Given the description of an element on the screen output the (x, y) to click on. 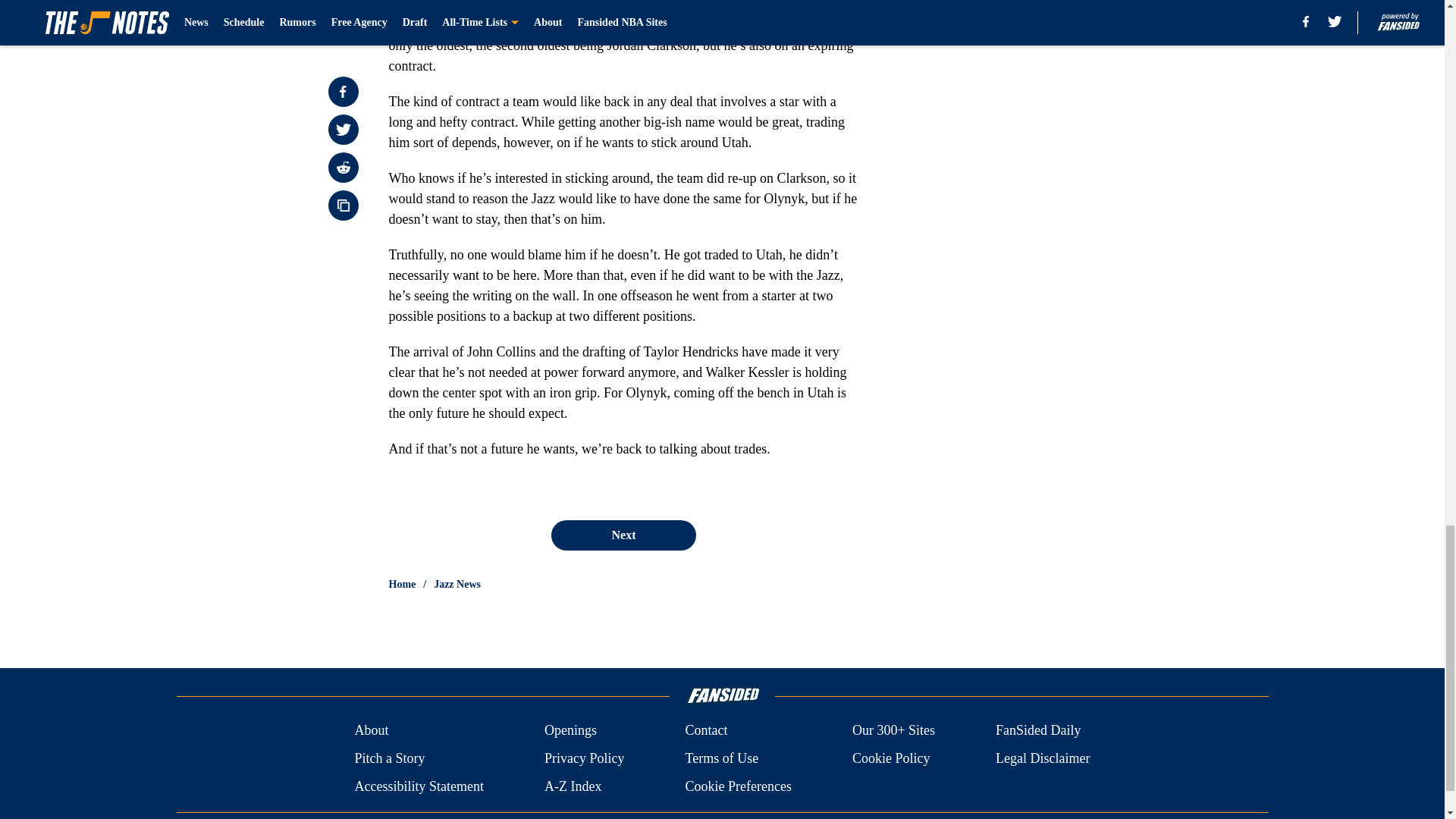
Home (401, 584)
Cookie Policy (890, 758)
Next (622, 535)
About (370, 730)
Privacy Policy (584, 758)
Openings (570, 730)
Pitch a Story (389, 758)
Legal Disclaimer (1042, 758)
Terms of Use (721, 758)
FanSided Daily (1038, 730)
